Given the description of an element on the screen output the (x, y) to click on. 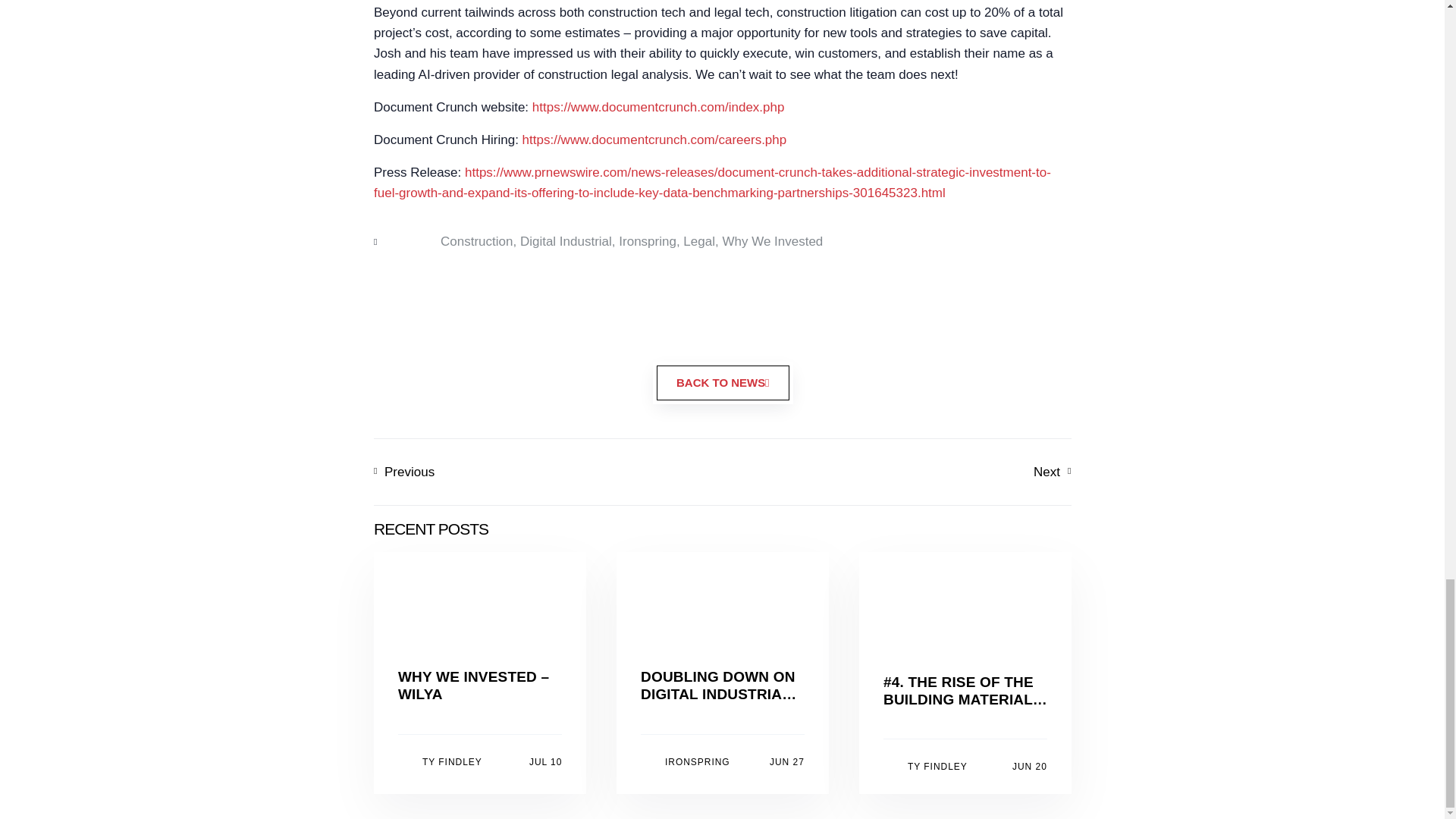
Why We Invested (772, 241)
Ironspring (964, 766)
Legal (647, 241)
Next (698, 241)
Digital Industrial (896, 471)
Construction (565, 241)
BACK TO NEWS (478, 761)
Previous (475, 241)
